Given the description of an element on the screen output the (x, y) to click on. 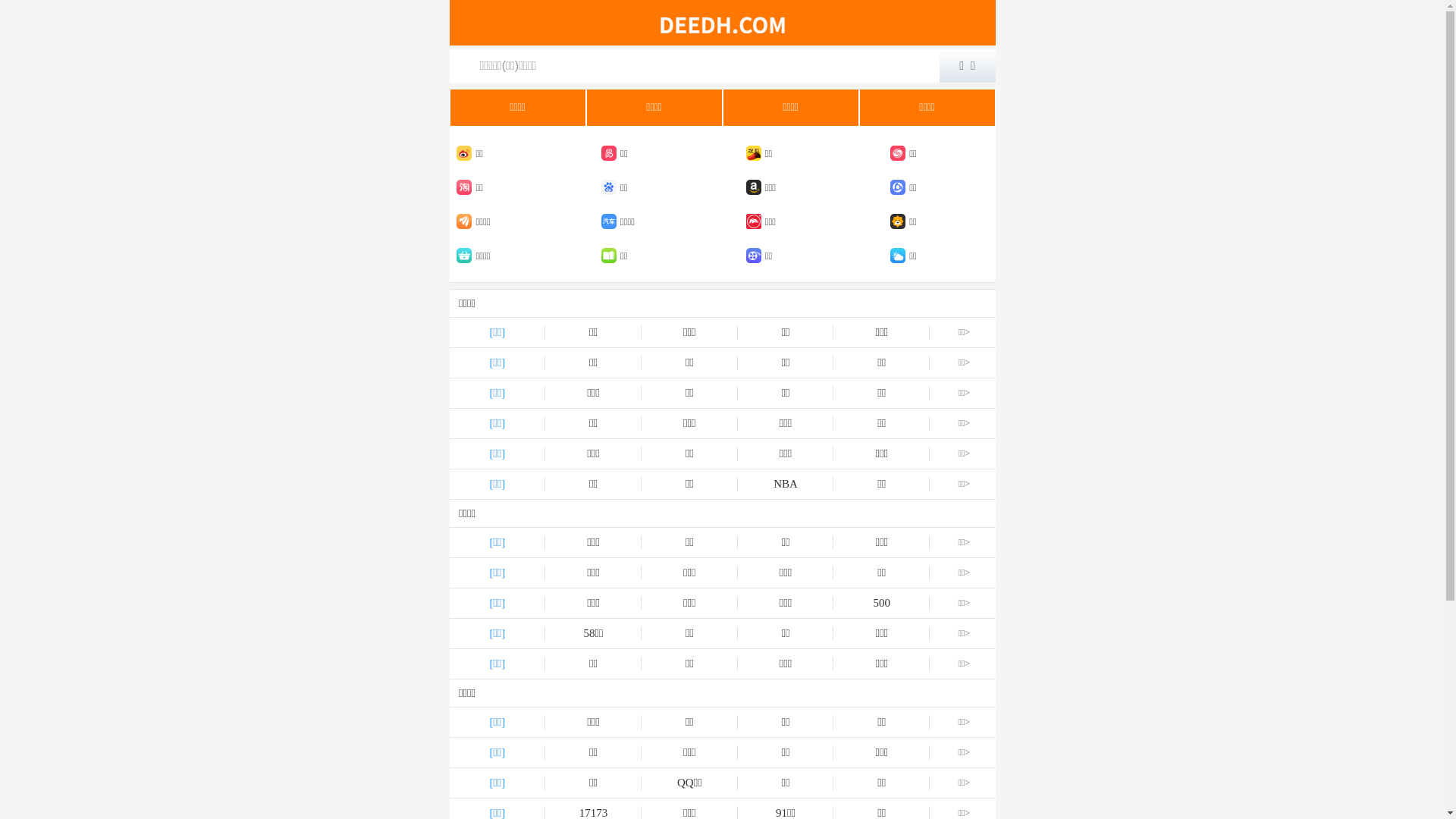
NBA Element type: text (785, 483)
500 Element type: text (881, 603)
